Given the description of an element on the screen output the (x, y) to click on. 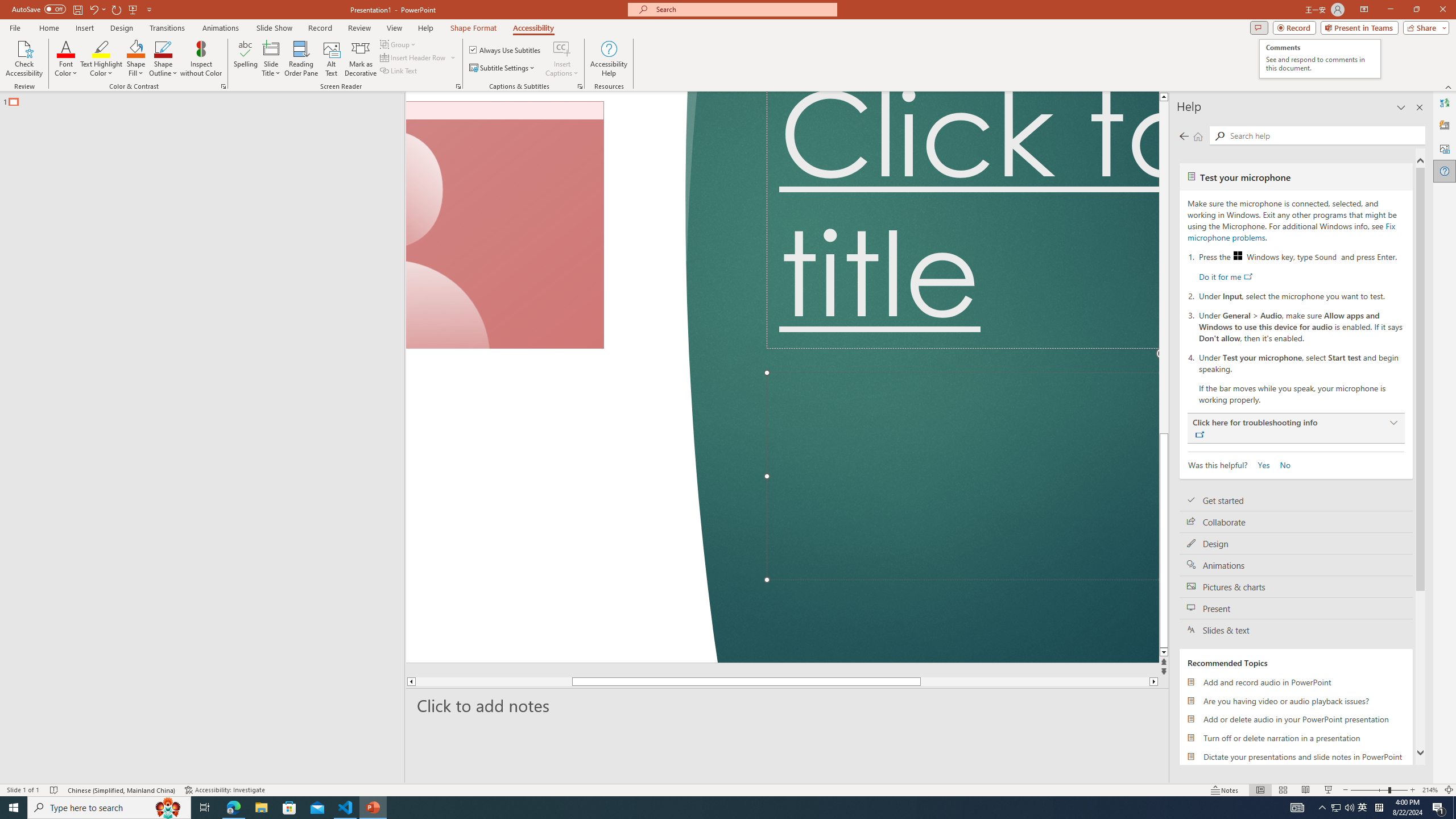
Under Input, select the microphone you want to test. (1301, 295)
Captions & Subtitles (580, 85)
Text Highlight Color (100, 58)
Zoom to Fit  (1449, 790)
Font Color Red (65, 48)
Camera 7, No camera detected. (505, 224)
Collapse the Ribbon (1448, 86)
AutoSave (38, 9)
Spell Check No Errors (54, 790)
Transitions (167, 28)
Rectangle (196, 437)
Zoom (1379, 790)
No (1280, 464)
Alt Text (1444, 147)
